Given the description of an element on the screen output the (x, y) to click on. 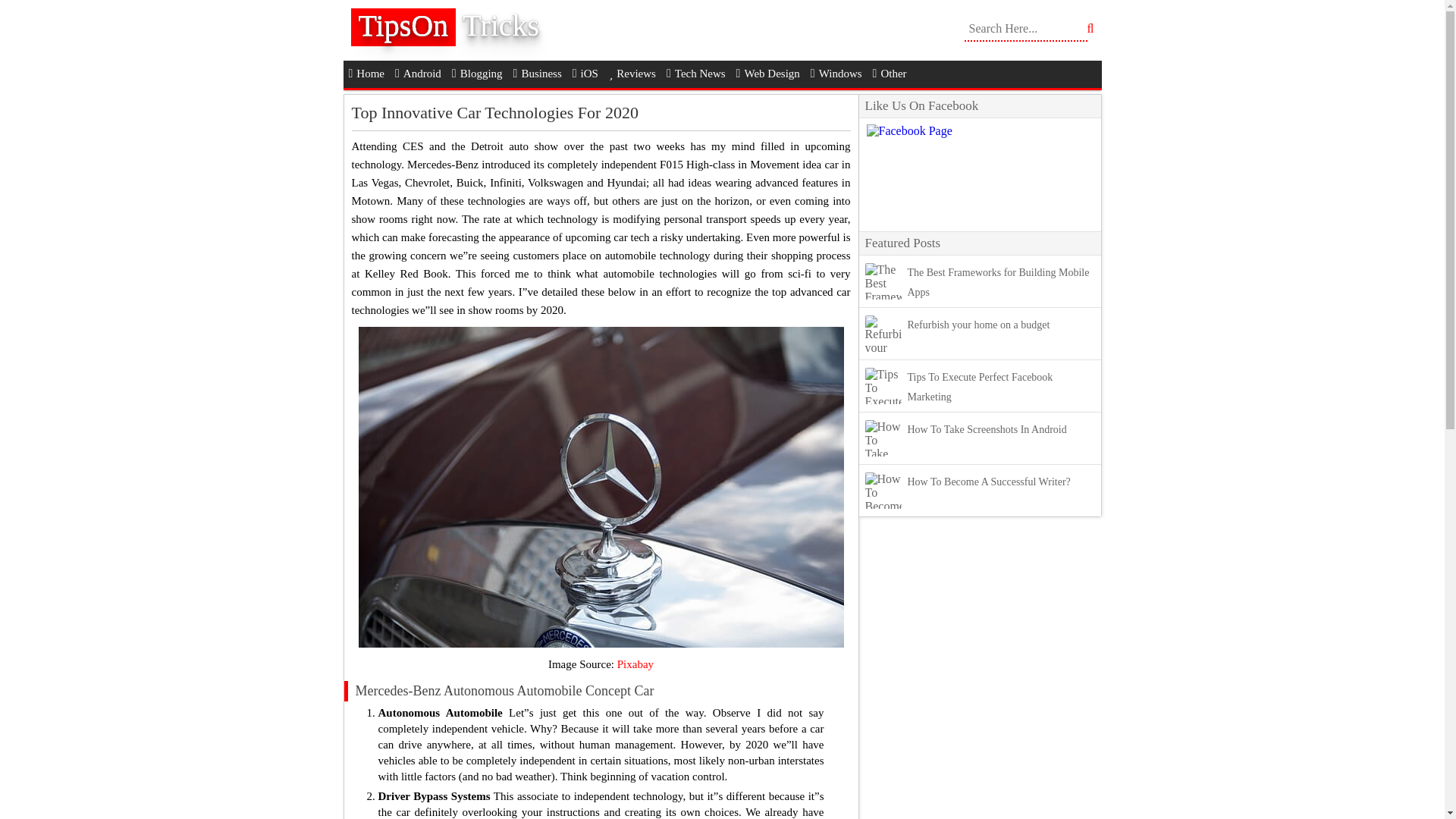
Reviews (632, 72)
iOS (585, 72)
Top Innovative Car Technologies For 2020 (495, 112)
Windows (836, 72)
Other (889, 72)
The Best Frameworks for Building Mobile Apps (998, 282)
Tips To Execute Perfect Facebook Marketing (979, 386)
TipsOn Tricks (456, 30)
Home (366, 72)
Refurbish your home on a budget (978, 324)
